Given the description of an element on the screen output the (x, y) to click on. 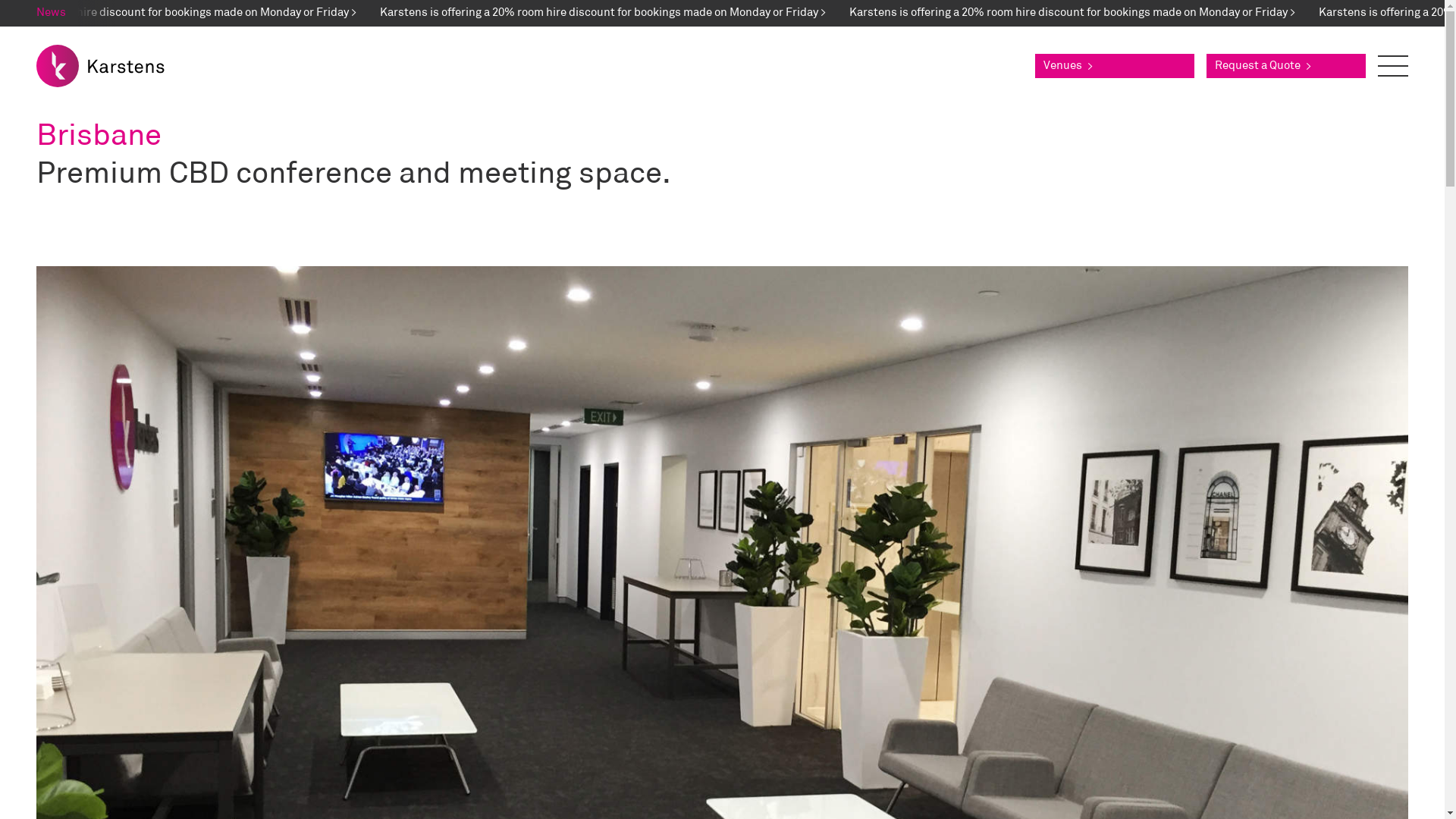
Request a Quote > Element type: text (1285, 65)
Venues > Element type: text (1114, 65)
